Given the description of an element on the screen output the (x, y) to click on. 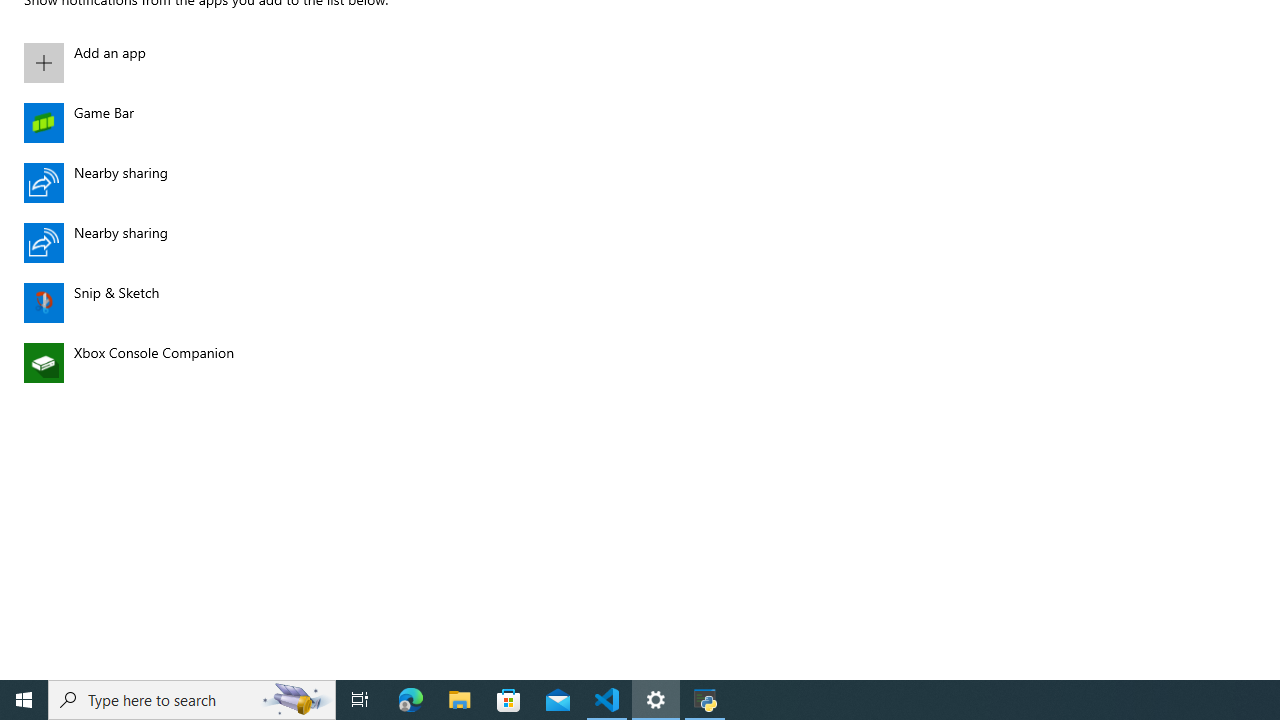
Xbox Console Companion (243, 362)
Add an app (243, 62)
Nearby sharing (243, 242)
Snip & Sketch (243, 302)
Game Bar (243, 122)
